Given the description of an element on the screen output the (x, y) to click on. 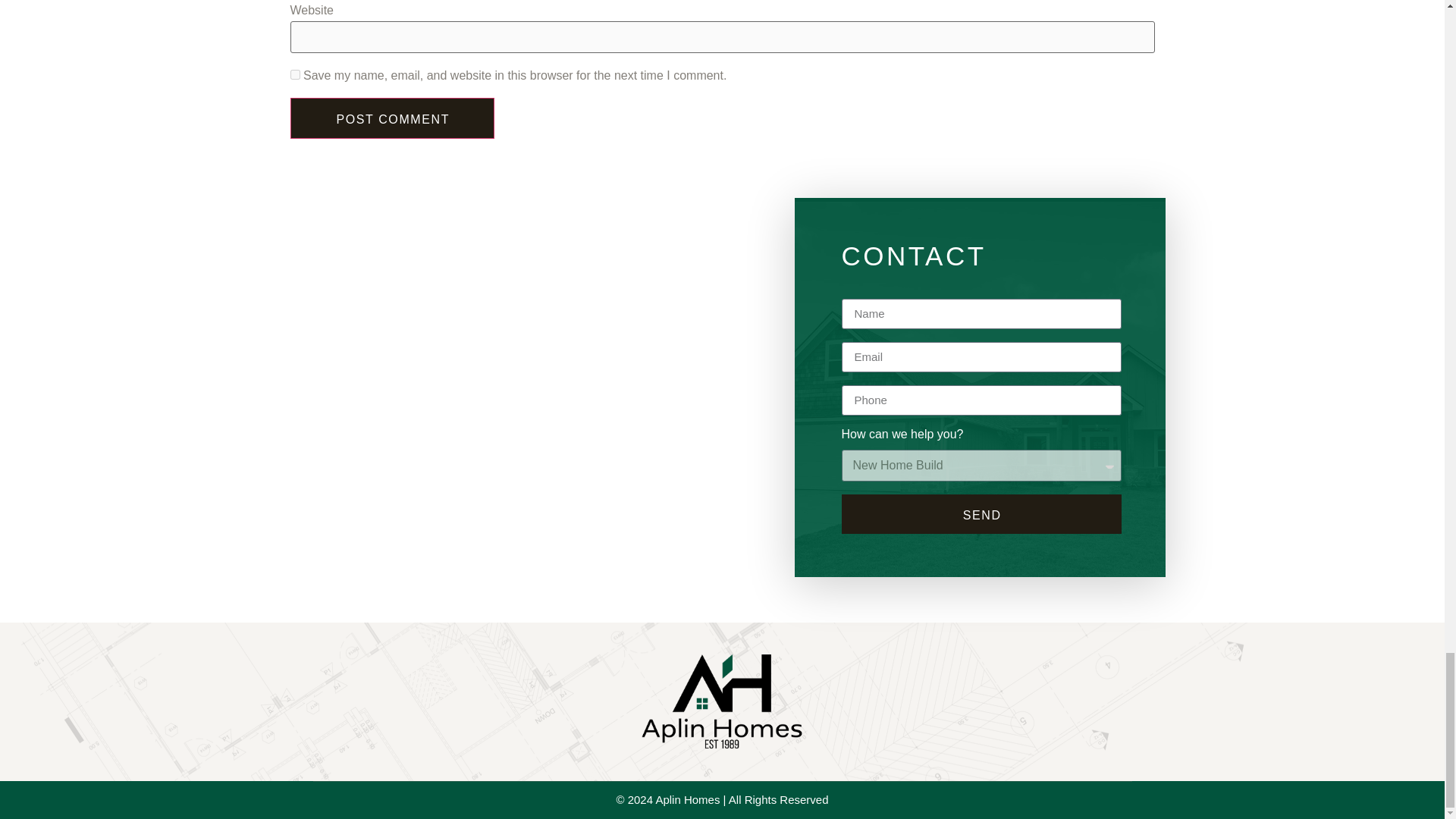
207 That Way St. Ste. A2 Lake Jackson, TX 77566 (512, 453)
yes (294, 74)
Post Comment (392, 117)
SEND (981, 513)
Post Comment (392, 117)
